Given the description of an element on the screen output the (x, y) to click on. 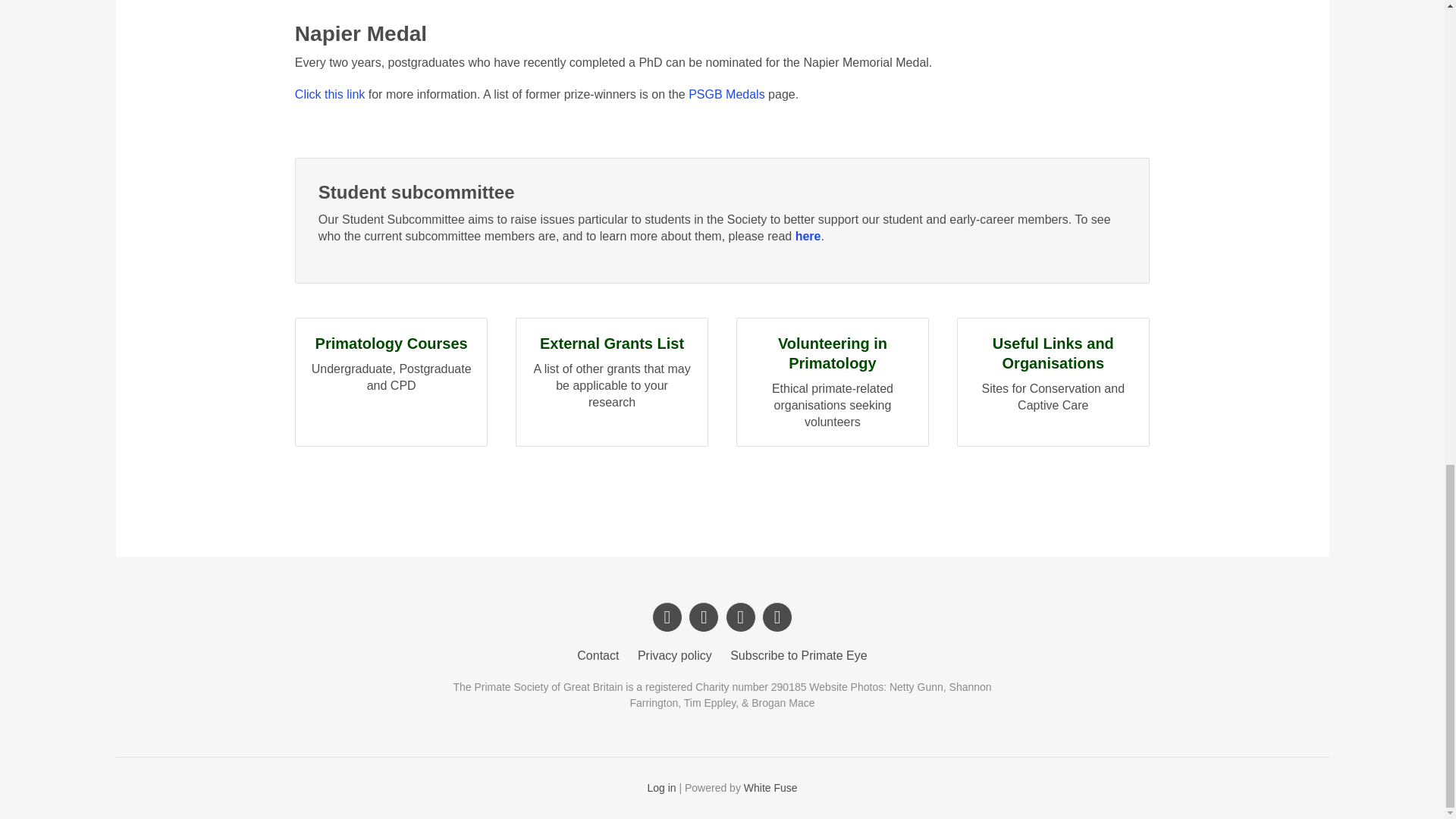
White Fuse (391, 381)
Subscribe to Primate Eye (770, 787)
Contact (798, 655)
PSGB Medals (597, 655)
Log in (726, 93)
Privacy policy (660, 787)
